Given the description of an element on the screen output the (x, y) to click on. 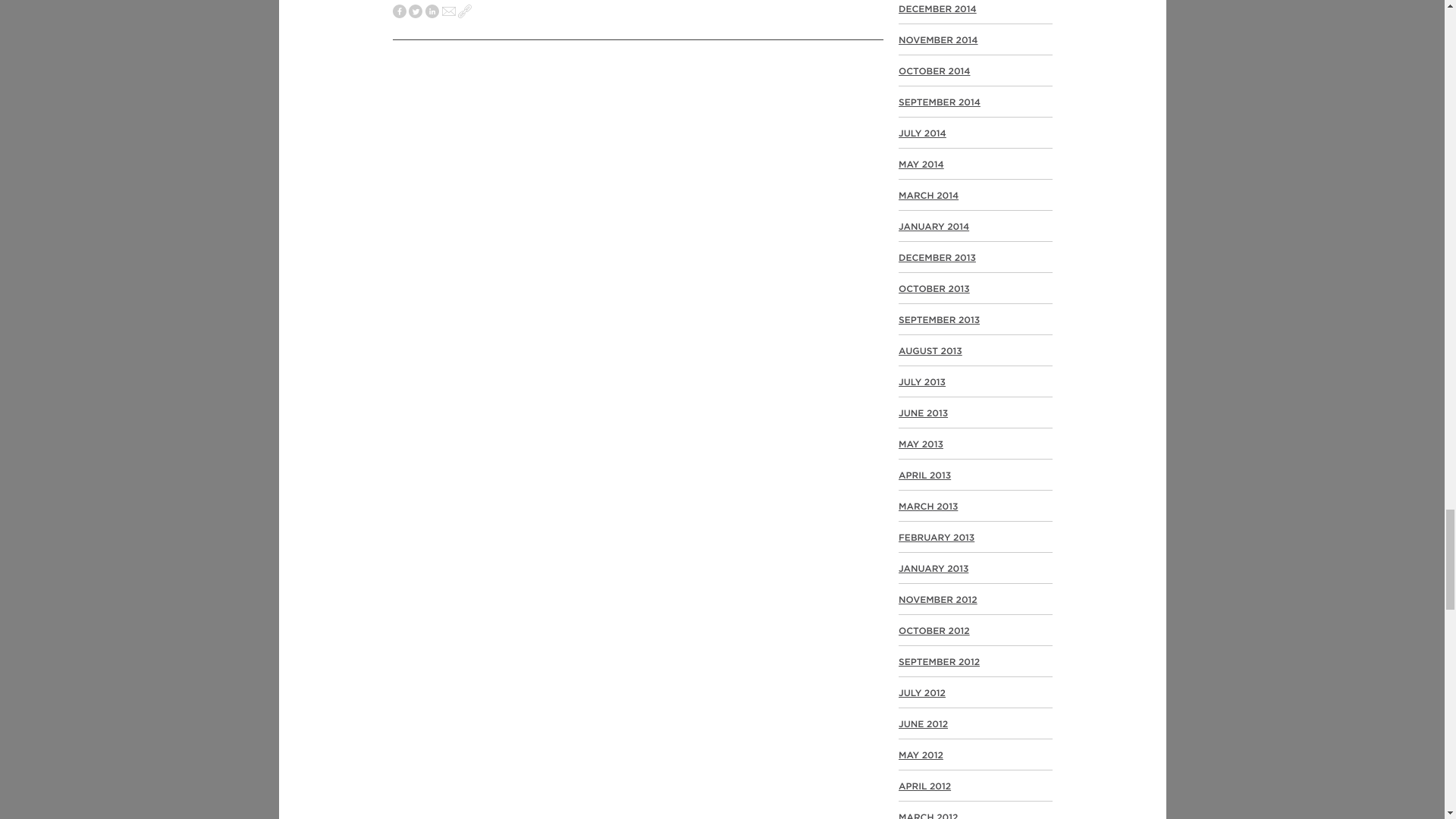
Share on email (448, 11)
Share on facebook (399, 11)
Share on link (464, 11)
Share on linkedin (432, 11)
Share on twitter (415, 11)
